Given the description of an element on the screen output the (x, y) to click on. 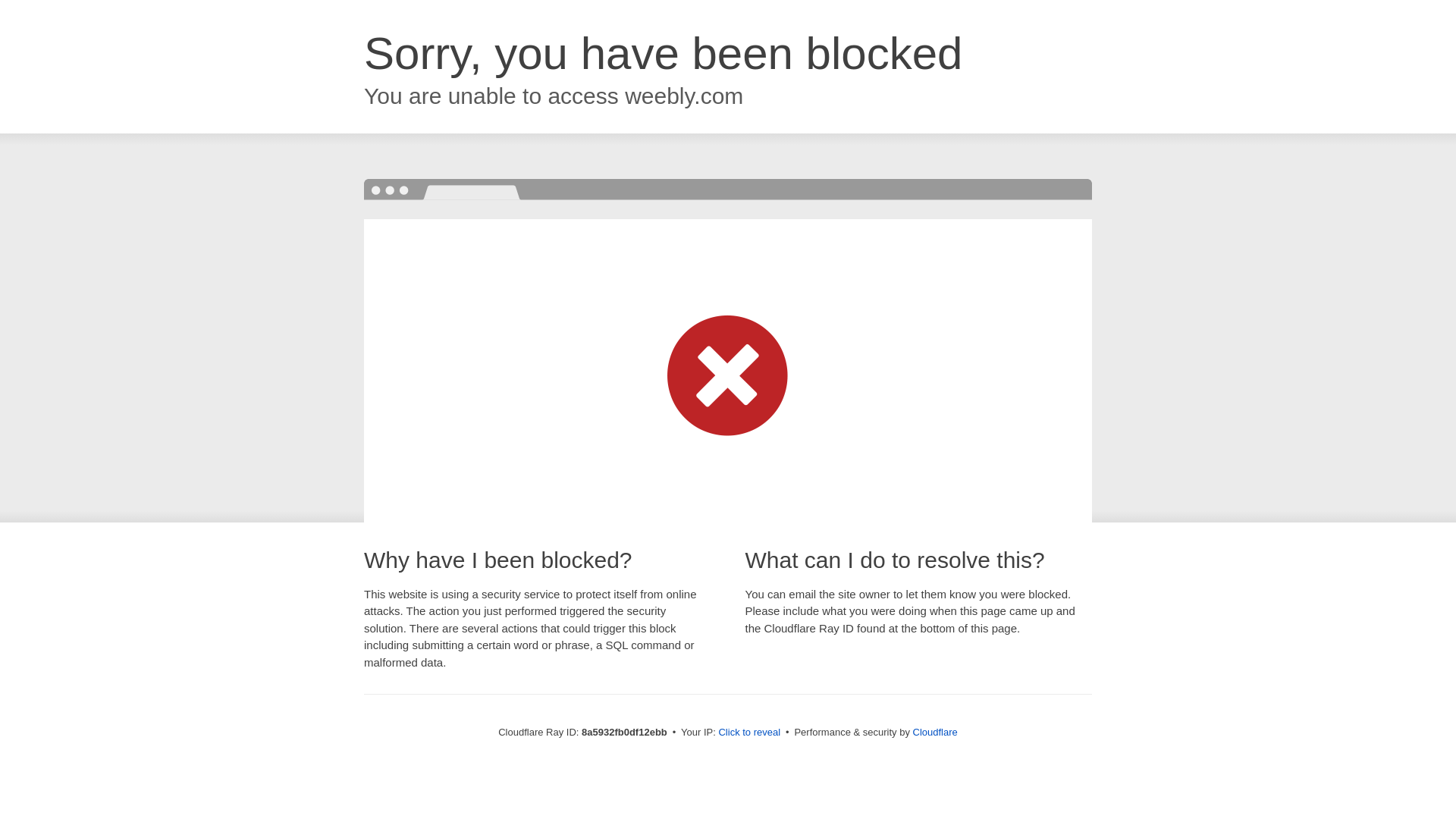
Cloudflare (935, 731)
Click to reveal (748, 732)
